Given the description of an element on the screen output the (x, y) to click on. 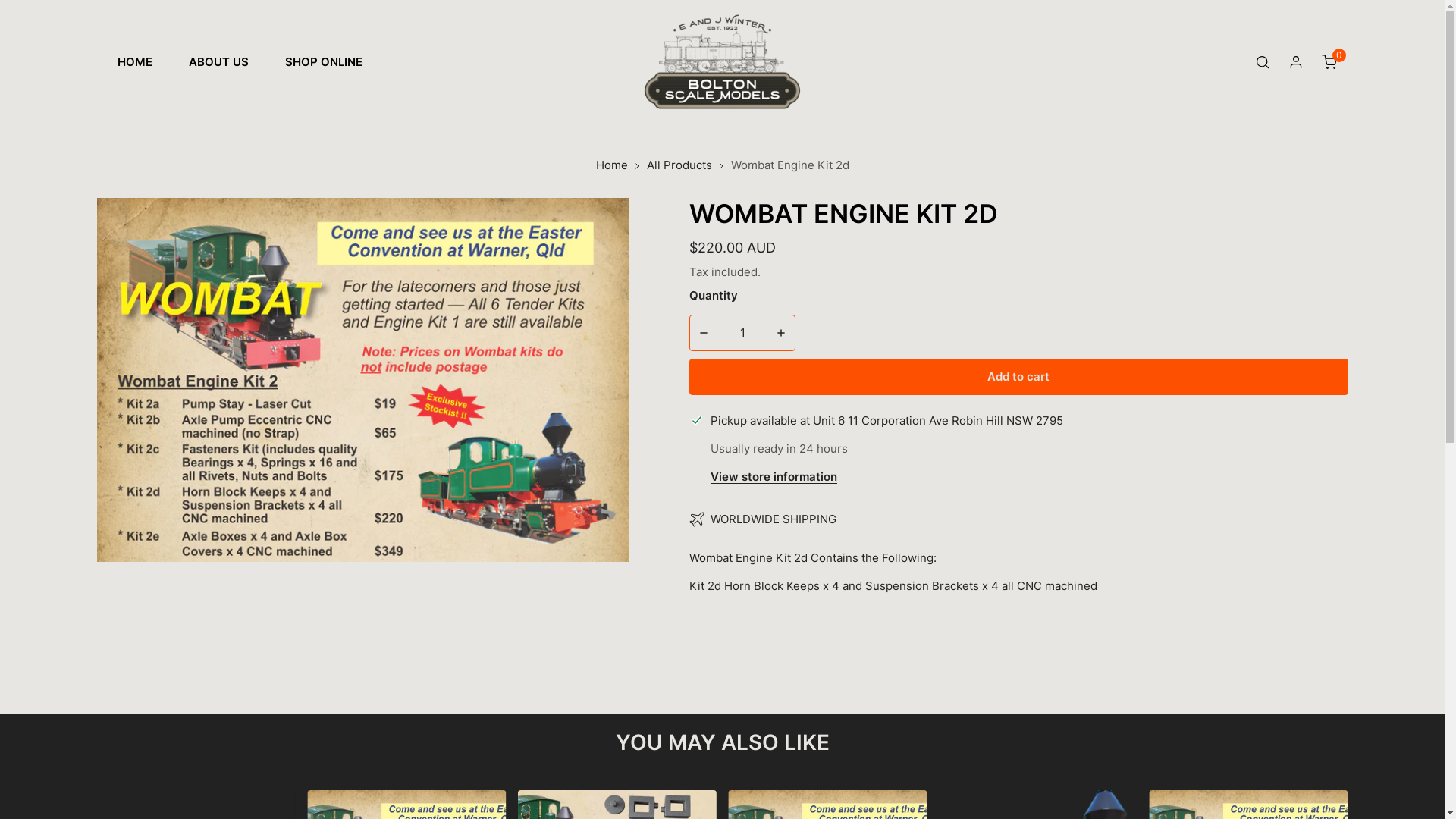
Skip to product information Element type: text (120, 215)
All Products Element type: text (678, 164)
Log in Element type: text (1294, 61)
Decrease quantity for Wombat Engine Kit 2d Element type: text (703, 332)
Add to cart Element type: text (1017, 376)
View store information Element type: text (772, 476)
0
items Element type: text (1328, 61)
Home Element type: text (611, 164)
E and J Winter - Bolton Scale Models Element type: hover (721, 61)
SHOP ONLINE Element type: text (323, 61)
HOME Element type: text (133, 61)
Increase quantity for Wombat Engine Kit 2d Element type: text (780, 332)
ABOUT US Element type: text (217, 61)
